Given the description of an element on the screen output the (x, y) to click on. 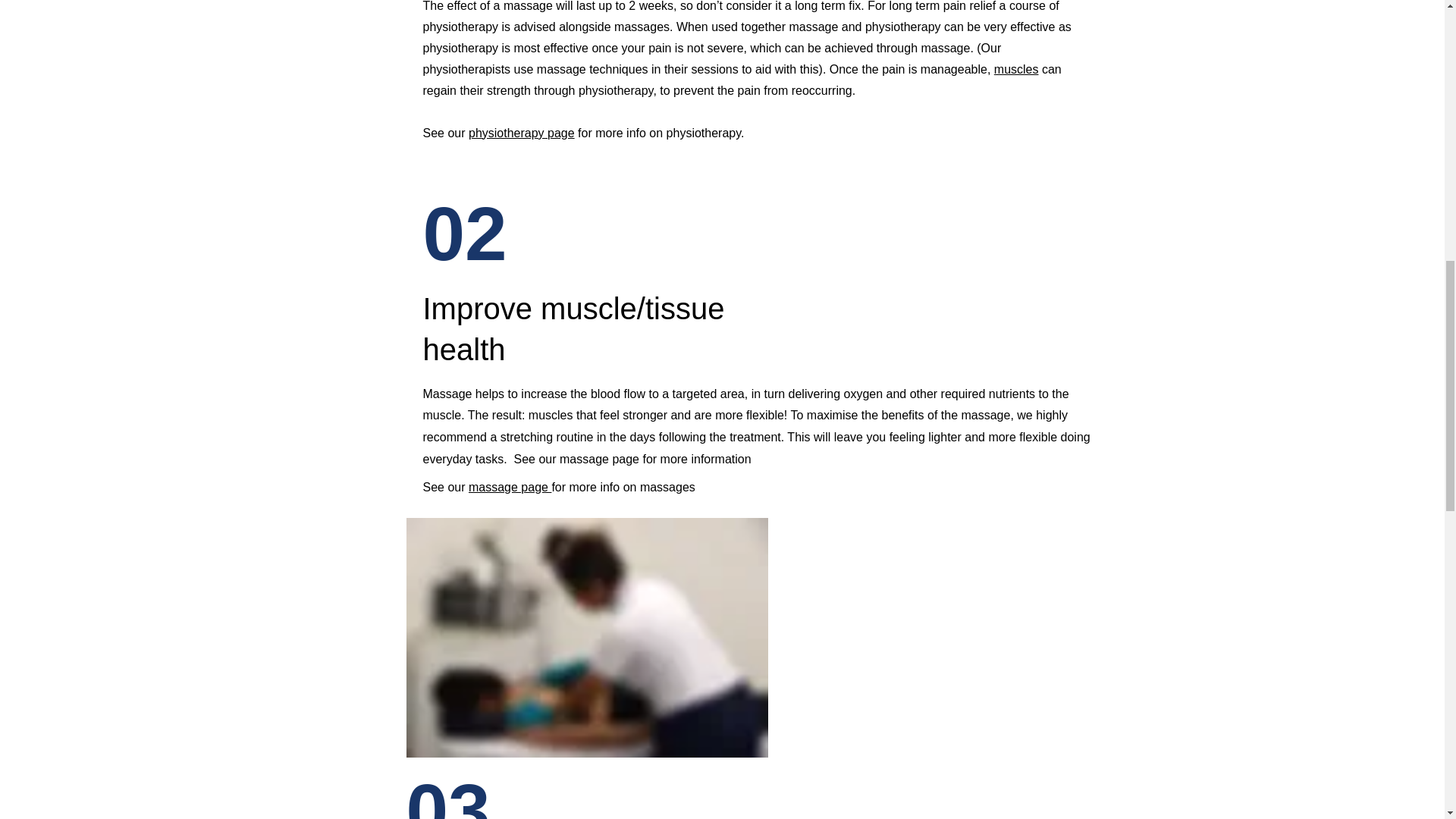
for more info on massages  (624, 486)
muscles (1016, 69)
physiotherapy page (521, 132)
massage page (509, 486)
See our (445, 486)
